Given the description of an element on the screen output the (x, y) to click on. 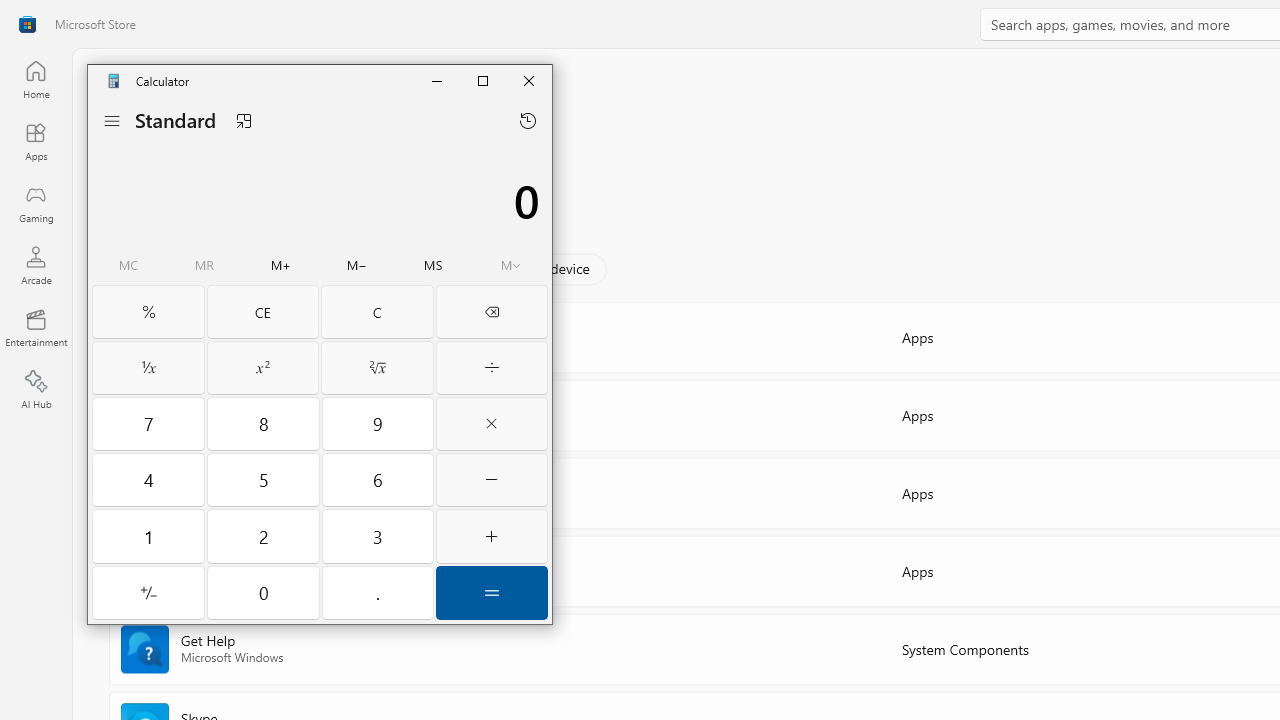
Home (35, 79)
Arcade (35, 265)
Clear (377, 312)
Open history flyout (528, 120)
Backspace (491, 312)
Three (377, 536)
Memory subtract (357, 265)
Percent (148, 312)
Multiply by (491, 423)
AI Hub (35, 390)
Equals (491, 592)
Memory store (433, 265)
Open Navigation (111, 120)
